Given the description of an element on the screen output the (x, y) to click on. 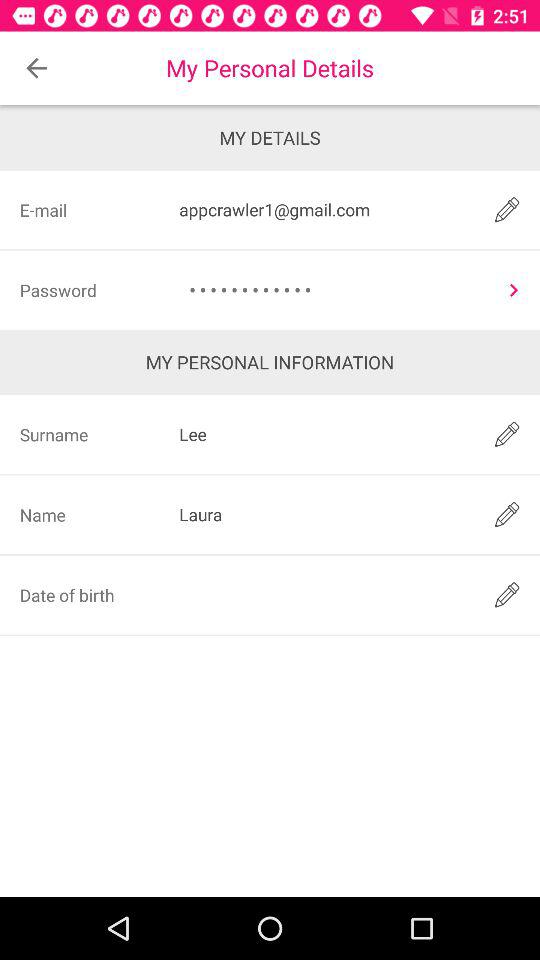
open icon to the left of the my personal details icon (36, 68)
